Given the description of an element on the screen output the (x, y) to click on. 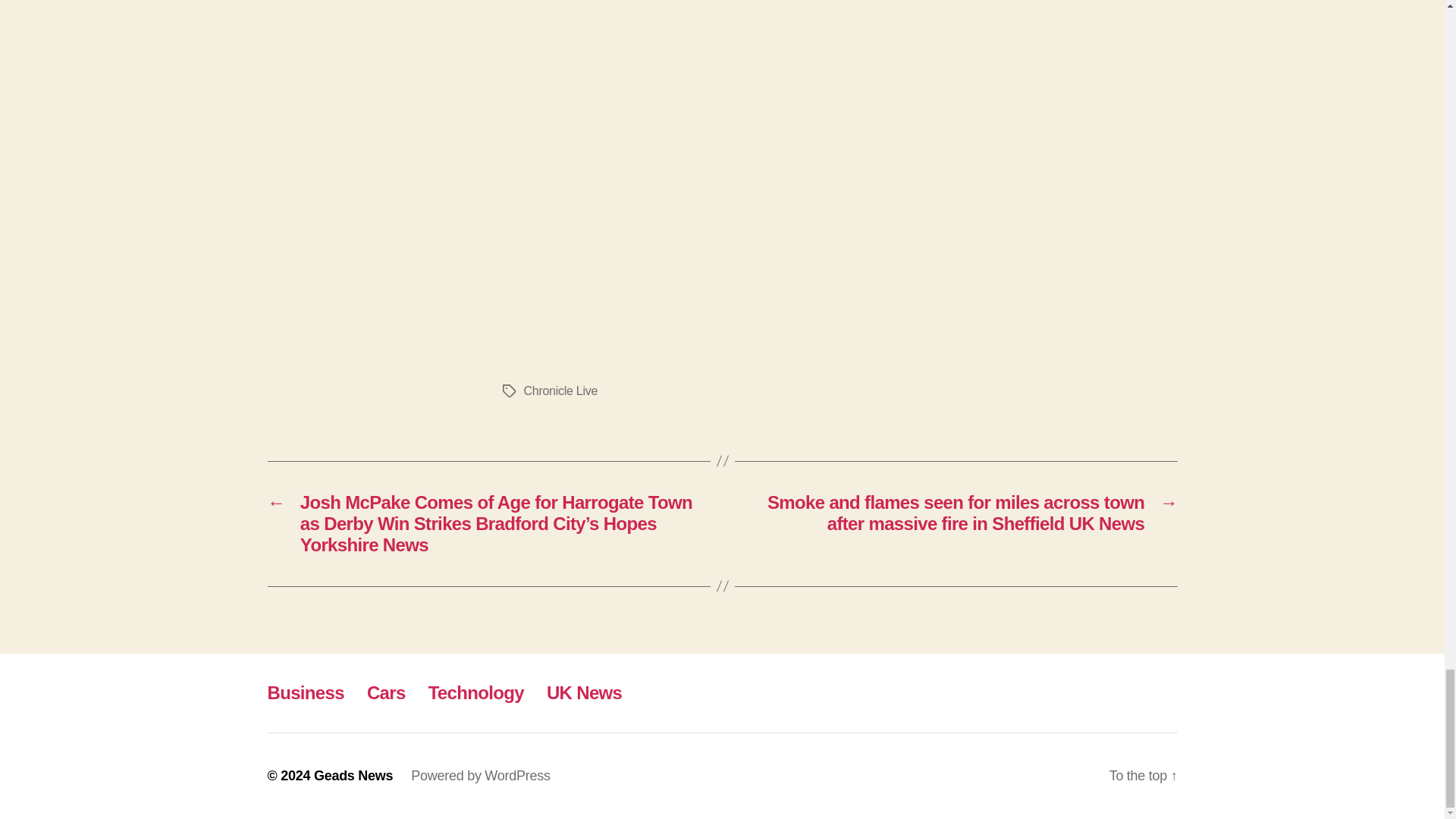
Cars (386, 692)
Geads News (353, 775)
Powered by WordPress (480, 775)
Business (304, 692)
Chronicle Live (559, 390)
Technology (476, 692)
UK News (584, 692)
